Given the description of an element on the screen output the (x, y) to click on. 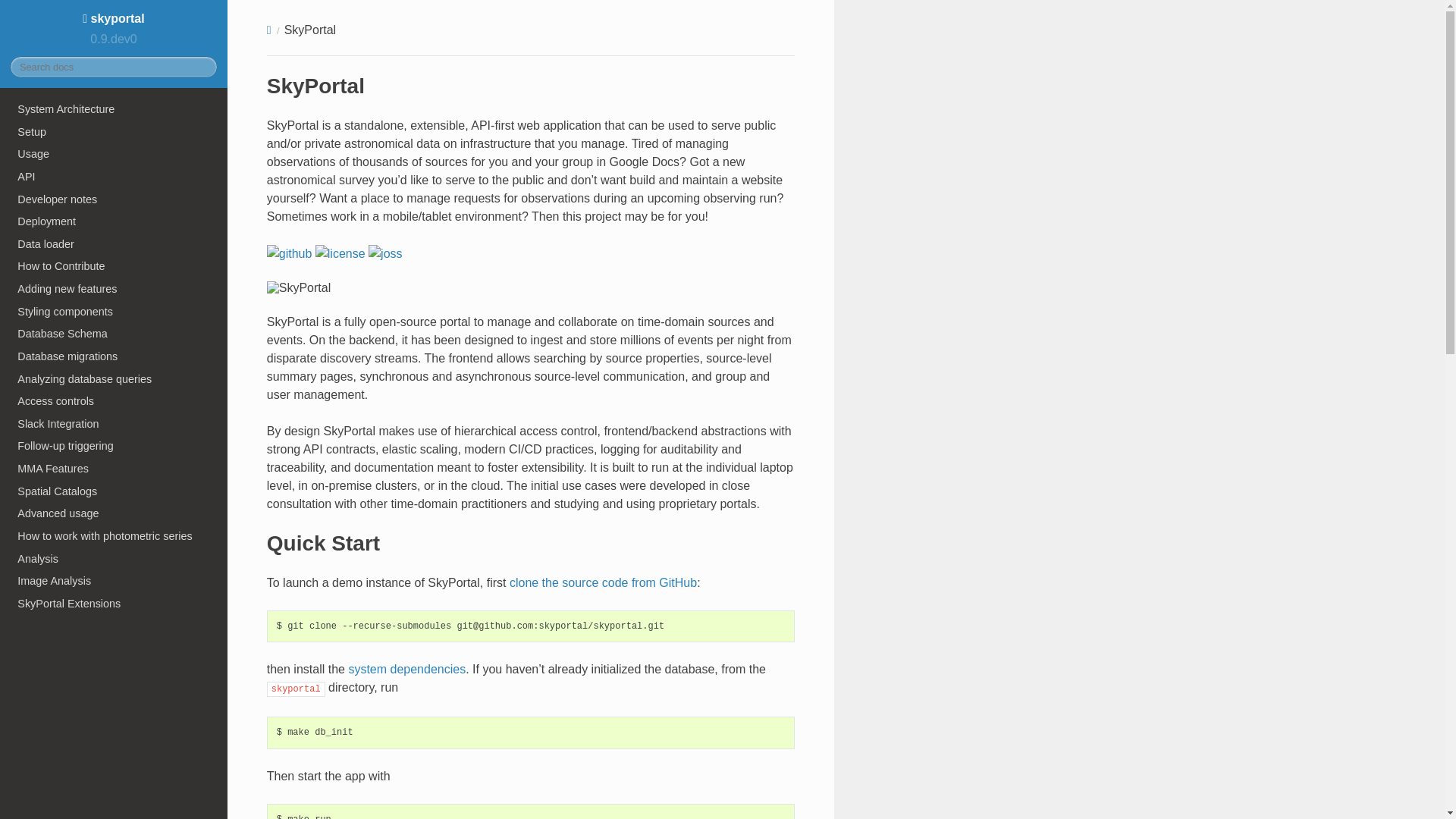
Styling components (113, 311)
Spatial Catalogs (113, 490)
Developer notes (113, 199)
API (113, 176)
skyportal (113, 18)
SkyPortal Extensions (113, 603)
Analysis (113, 558)
Access controls (113, 400)
Data loader (113, 243)
Analyzing database queries (113, 378)
